Given the description of an element on the screen output the (x, y) to click on. 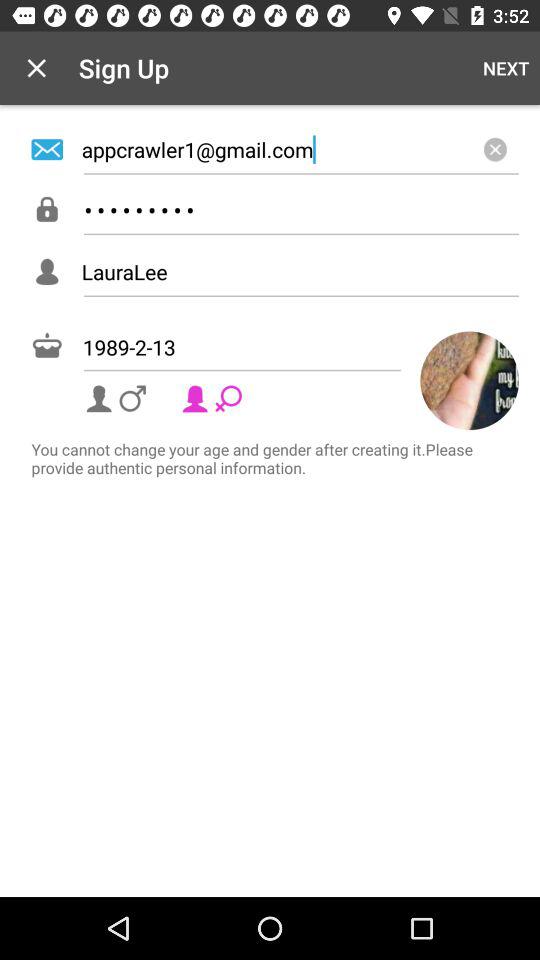
tap item below the next icon (495, 149)
